Given the description of an element on the screen output the (x, y) to click on. 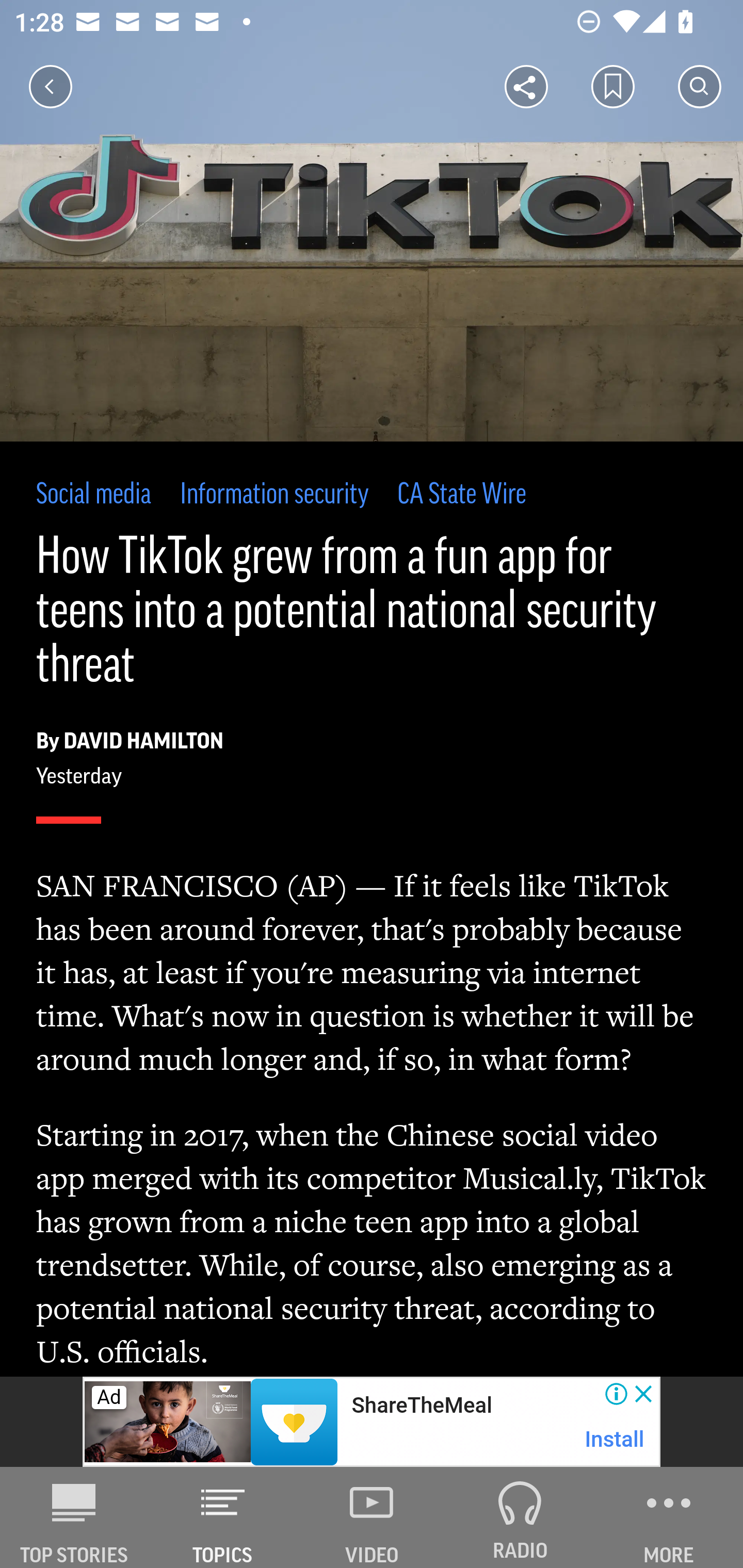
Social media (93, 496)
Information security (274, 496)
CA State Wire (462, 496)
ShareTheMeal (420, 1405)
Install (614, 1438)
AP News TOP STORIES (74, 1517)
TOPICS (222, 1517)
VIDEO (371, 1517)
RADIO (519, 1517)
MORE (668, 1517)
